Given the description of an element on the screen output the (x, y) to click on. 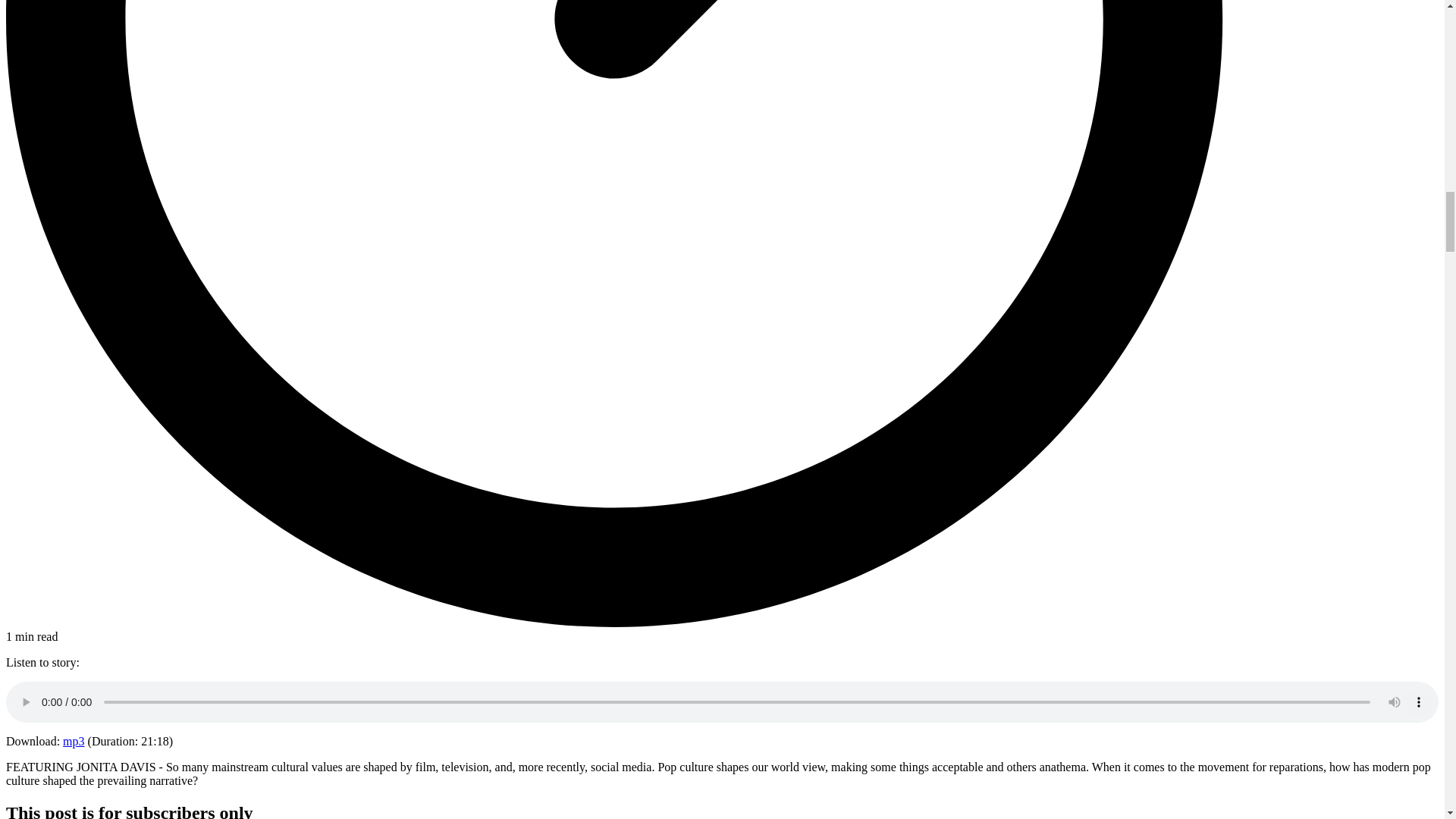
mp3 (73, 740)
mp3 (73, 740)
